Given the description of an element on the screen output the (x, y) to click on. 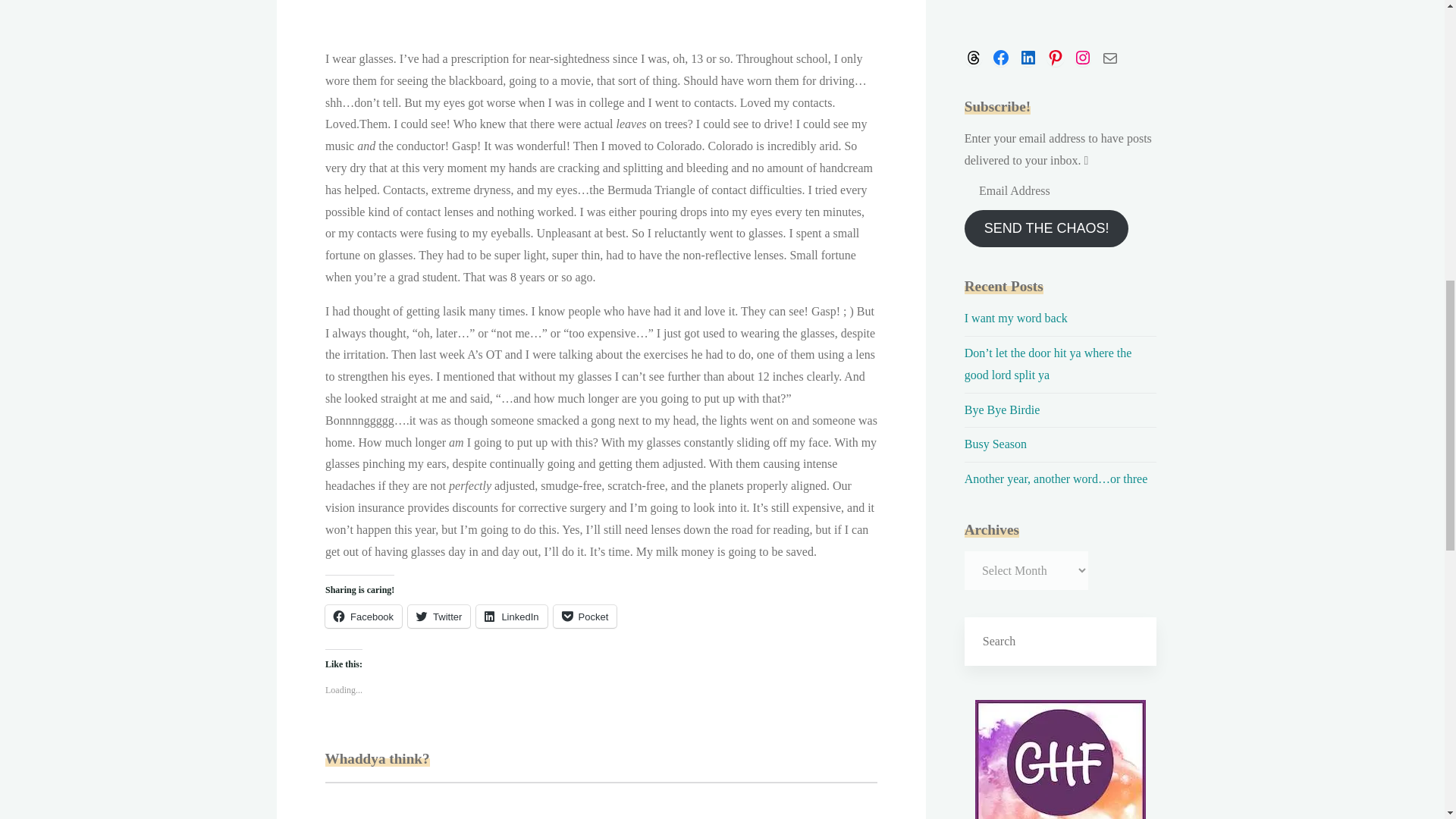
SEND THE CHAOS! (1046, 228)
Facebook (362, 616)
Threads (972, 57)
Click to share on LinkedIn (511, 616)
Pocket (584, 616)
Bye Bye Birdie (1002, 409)
Click to share on Pocket (584, 616)
Mail (1109, 57)
Instagram (1083, 57)
Facebook (1000, 57)
